Given the description of an element on the screen output the (x, y) to click on. 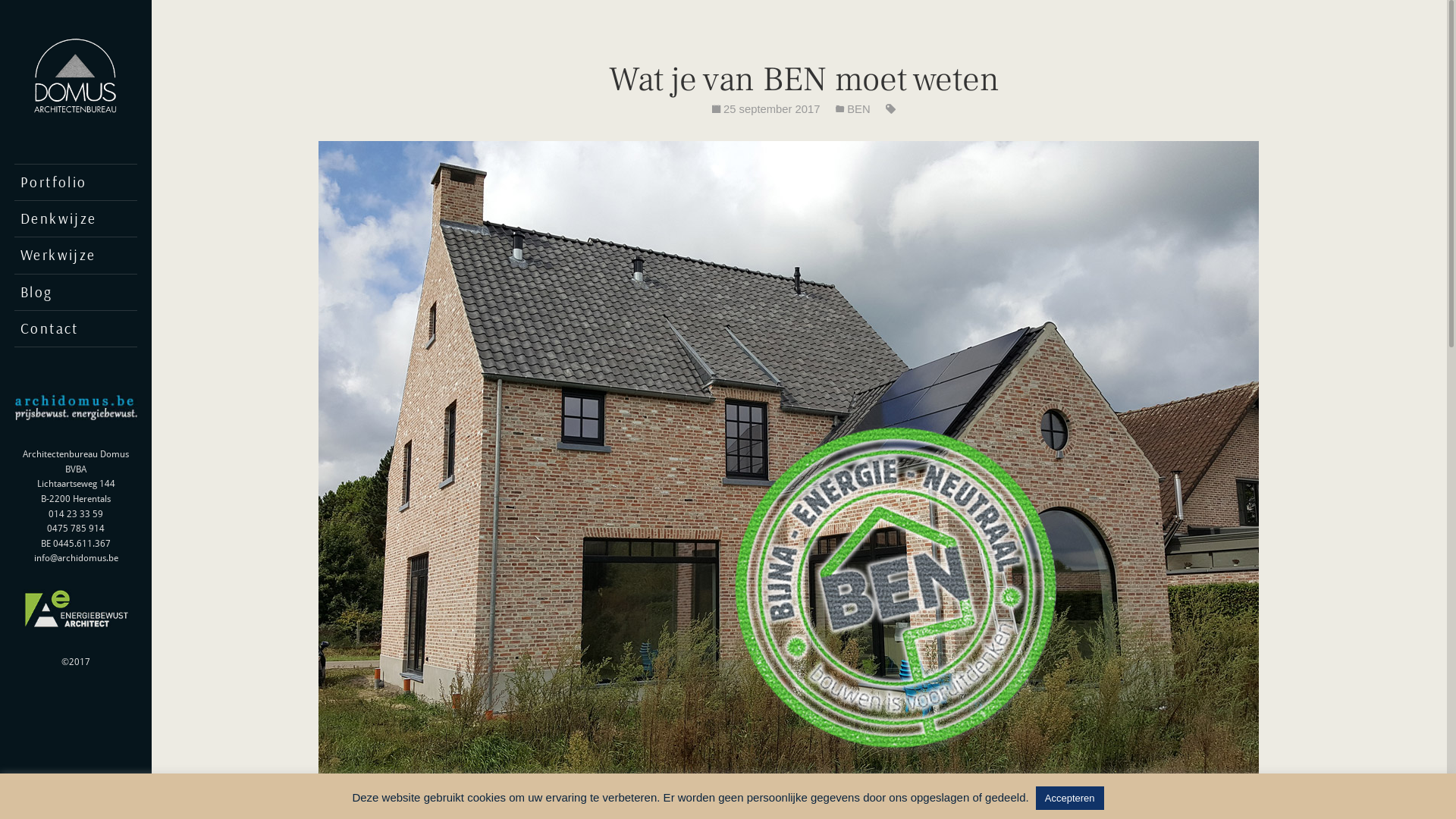
Werkwijze Element type: text (75, 254)
BEN Element type: text (858, 109)
Contact Element type: text (75, 328)
Portfolio Element type: text (75, 182)
Blog Element type: text (75, 292)
Accepteren Element type: text (1069, 797)
Denkwijze Element type: text (75, 218)
